Given the description of an element on the screen output the (x, y) to click on. 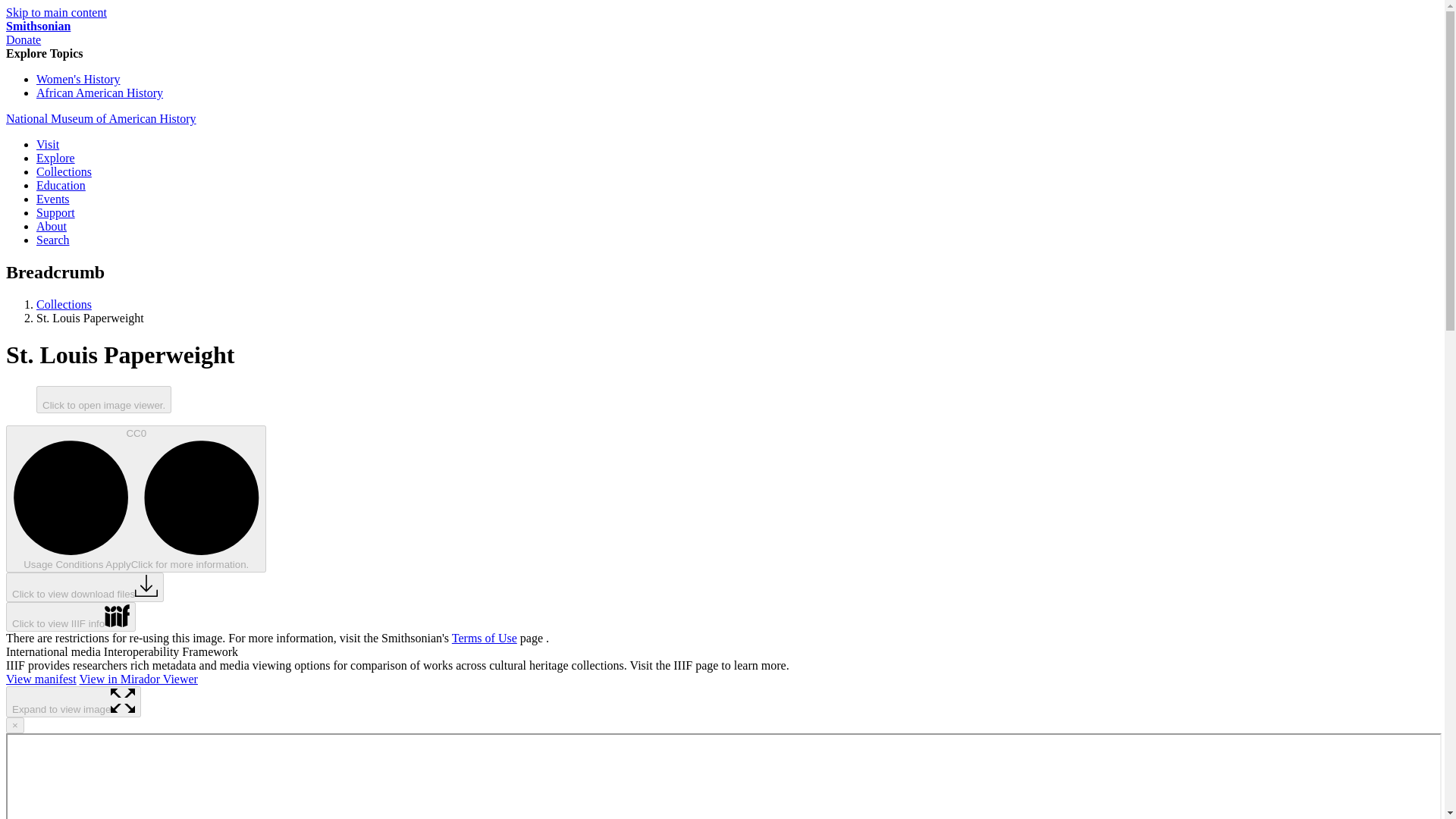
Explore (55, 157)
Search (52, 239)
Support (55, 212)
View in Mirador Viewer (139, 678)
About (51, 226)
Women's History (77, 78)
Click to view IIIF info (70, 616)
Enlarge image (122, 700)
View manifest (41, 678)
Terms of Use (483, 637)
